Given the description of an element on the screen output the (x, y) to click on. 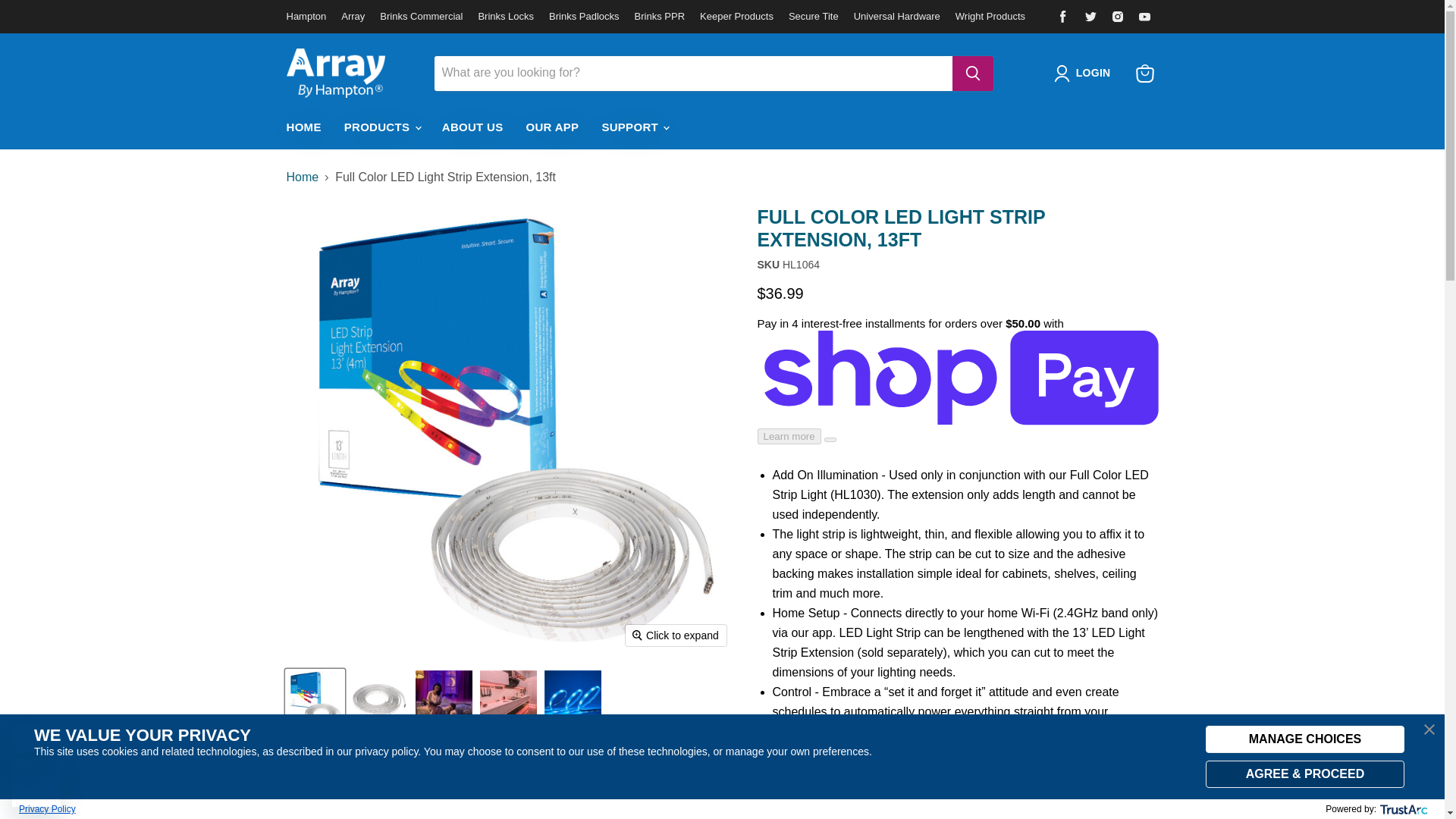
LOGIN (1093, 73)
Brinks Locks (505, 16)
Find us on instagram (1117, 16)
Brinks Padlocks (583, 16)
facebook (1063, 16)
Brinks PPR (659, 16)
Find us on youtube (1145, 16)
instagram (1117, 16)
Find us on facebook (1063, 16)
Hampton (306, 16)
twitter (1090, 16)
View cart (1144, 72)
HOME (303, 127)
youtube (1145, 16)
Brinks Commercial (421, 16)
